Given the description of an element on the screen output the (x, y) to click on. 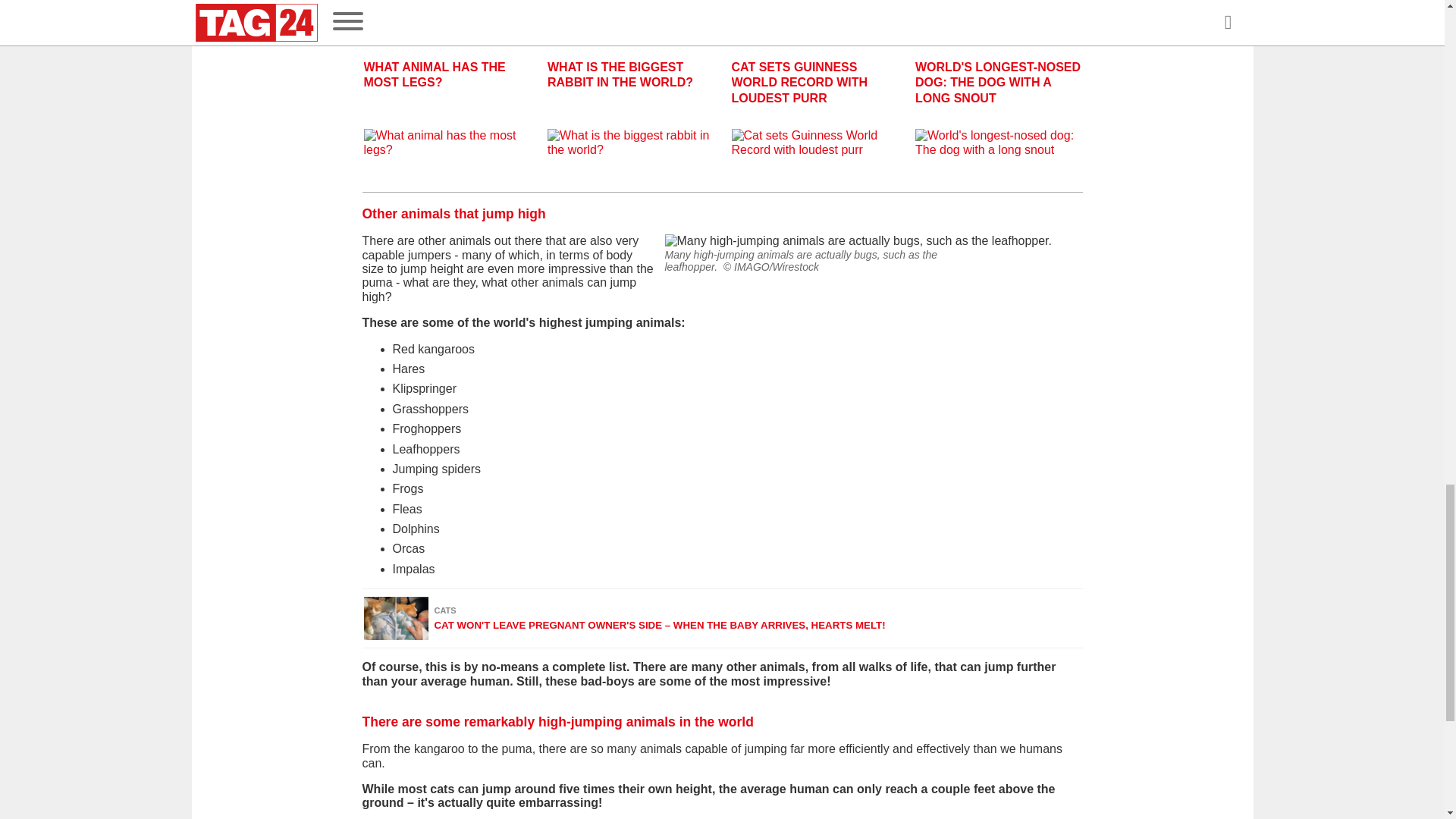
WHAT IS THE BIGGEST RABBIT IN THE WORLD? (630, 108)
WHAT ANIMAL HAS THE MOST LEGS? (446, 108)
CAT SETS GUINNESS WORLD RECORD WITH LOUDEST PURR (813, 108)
WORLD'S LONGEST-NOSED DOG: THE DOG WITH A LONG SNOUT (998, 108)
